Given the description of an element on the screen output the (x, y) to click on. 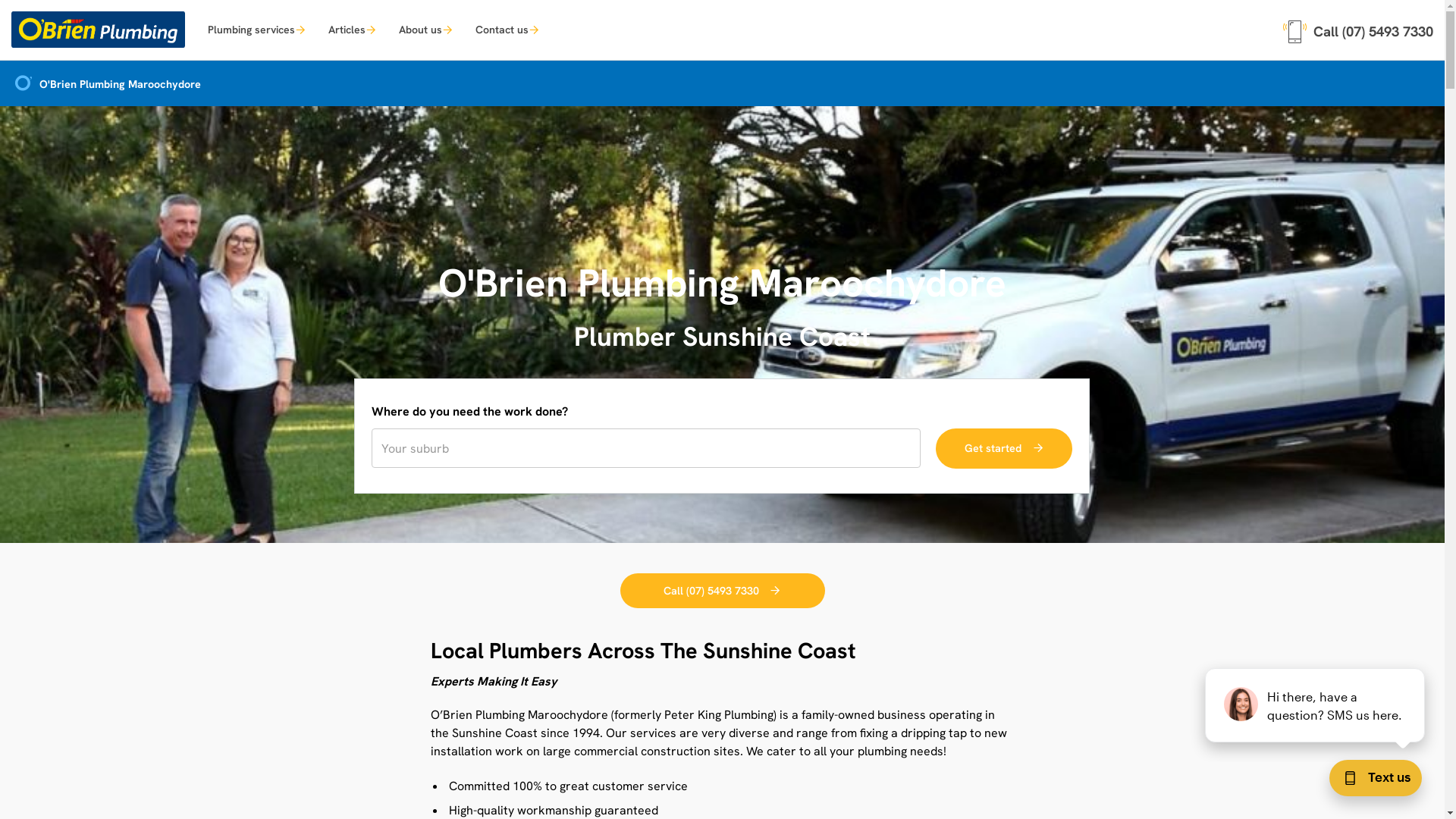
Call (07) 5493 7330 Element type: text (722, 590)
Contact us Element type: text (507, 28)
O'Brien Plumbing Maroochydore Element type: text (105, 84)
Call (07) 5493 7330 Element type: text (1358, 29)
podium webchat widget prompt Element type: hover (1315, 705)
Articles Element type: text (351, 28)
About us Element type: text (425, 28)
Get started Element type: text (1004, 448)
Plumbing services Element type: text (256, 28)
